Given the description of an element on the screen output the (x, y) to click on. 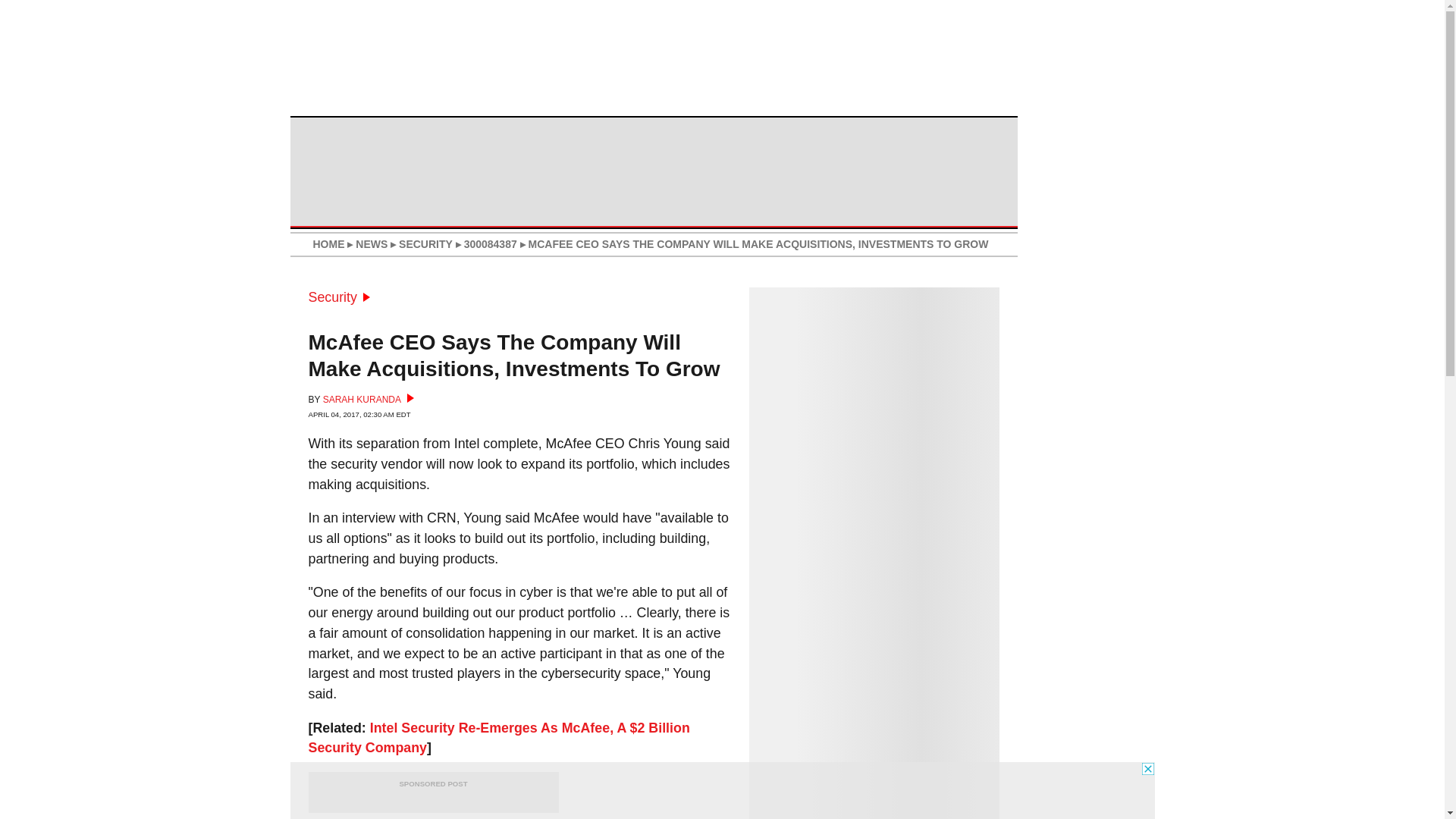
HOME (328, 244)
Security (338, 296)
Security (338, 296)
SARAH KURANDA (368, 398)
